Given the description of an element on the screen output the (x, y) to click on. 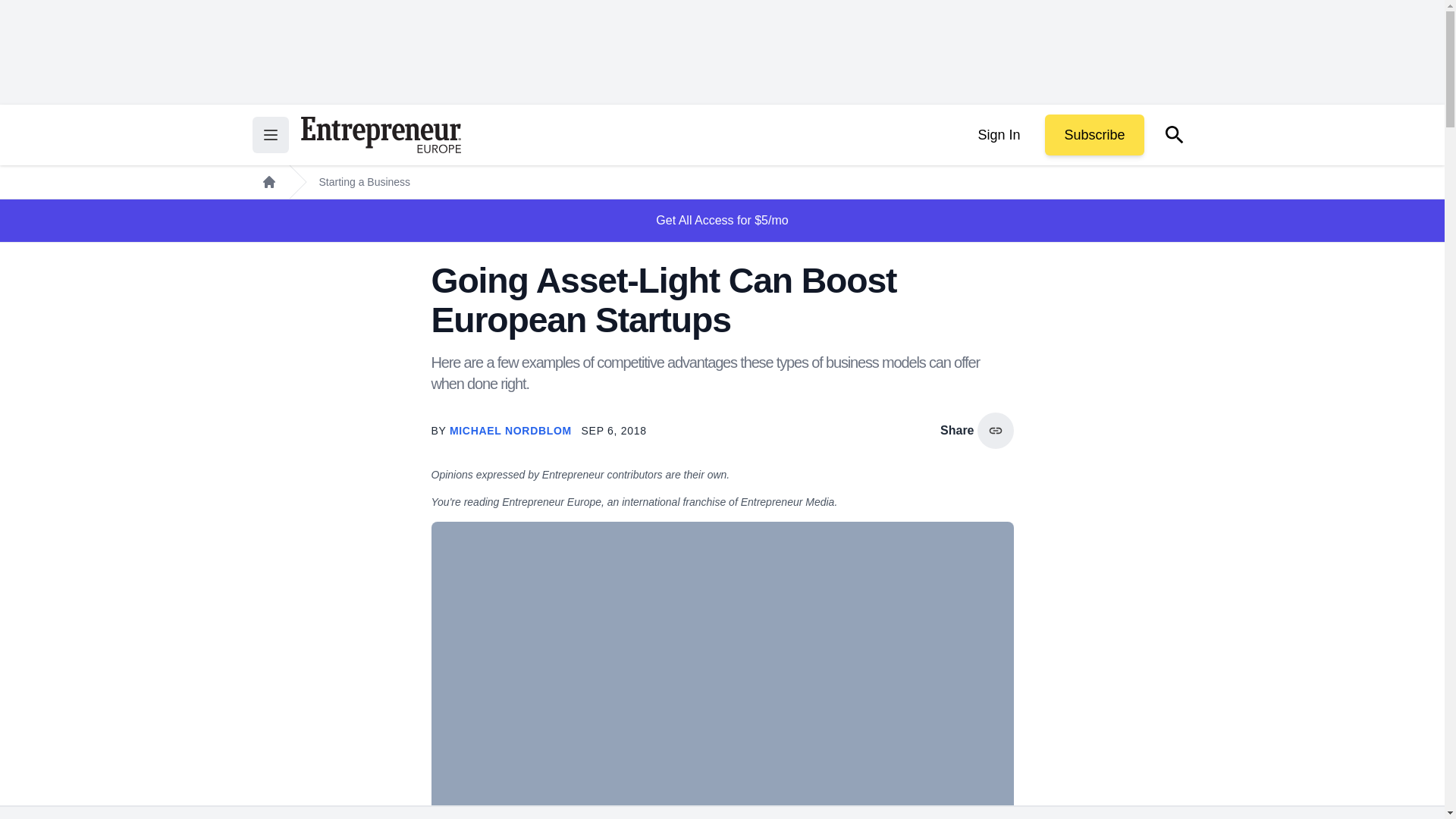
copy (994, 430)
Subscribe (1093, 134)
Return to the home page (380, 135)
Sign In (998, 134)
